Given the description of an element on the screen output the (x, y) to click on. 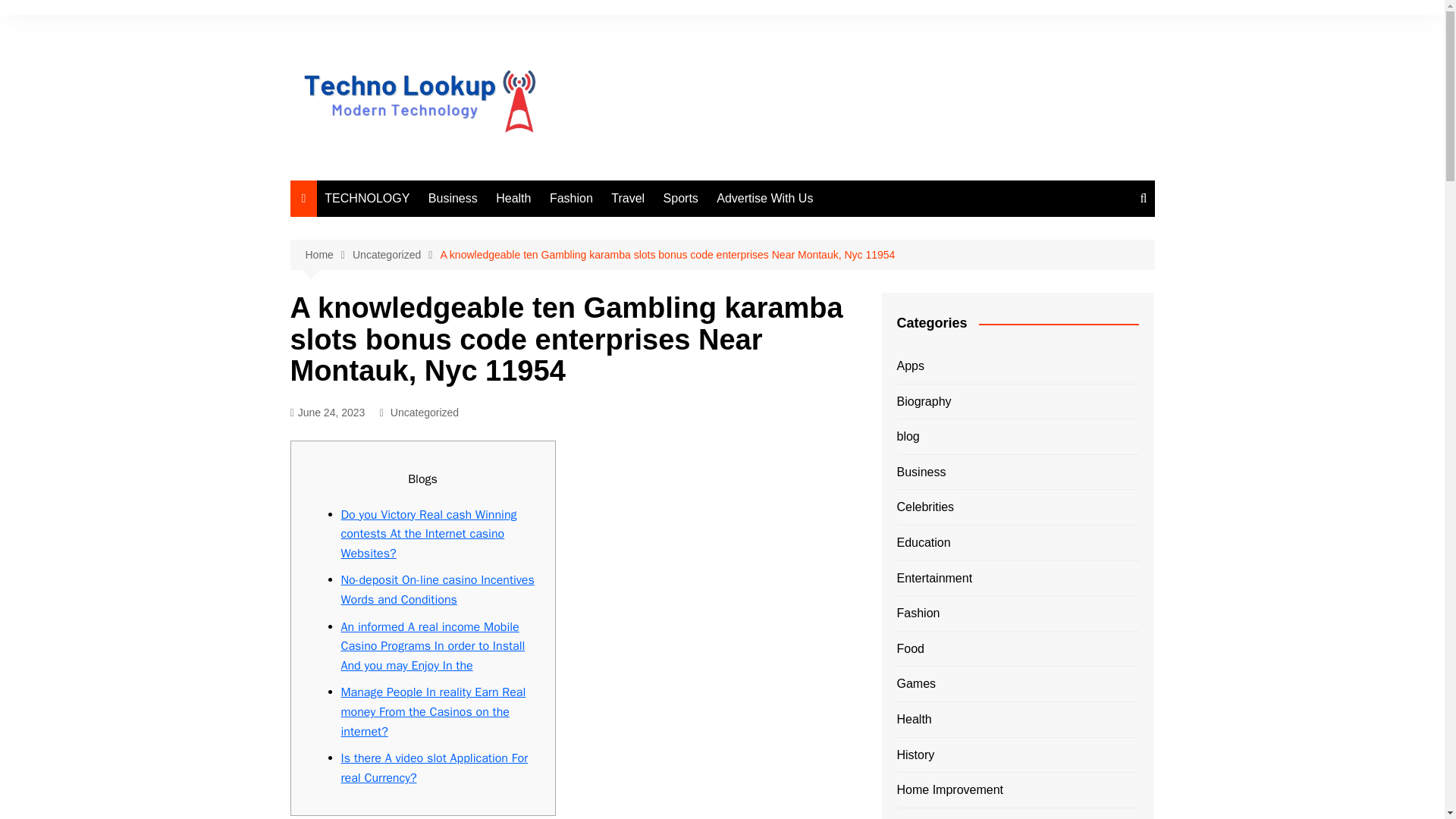
Health (512, 198)
TECHNOLOGY (366, 198)
Advertise With Us (765, 198)
Business (452, 198)
Travel (628, 198)
Uncategorized (424, 412)
Home (328, 254)
Fashion (570, 198)
Is there A video slot Application For real Currency? (434, 768)
Biography (923, 401)
June 24, 2023 (327, 412)
Apps (909, 365)
